Given the description of an element on the screen output the (x, y) to click on. 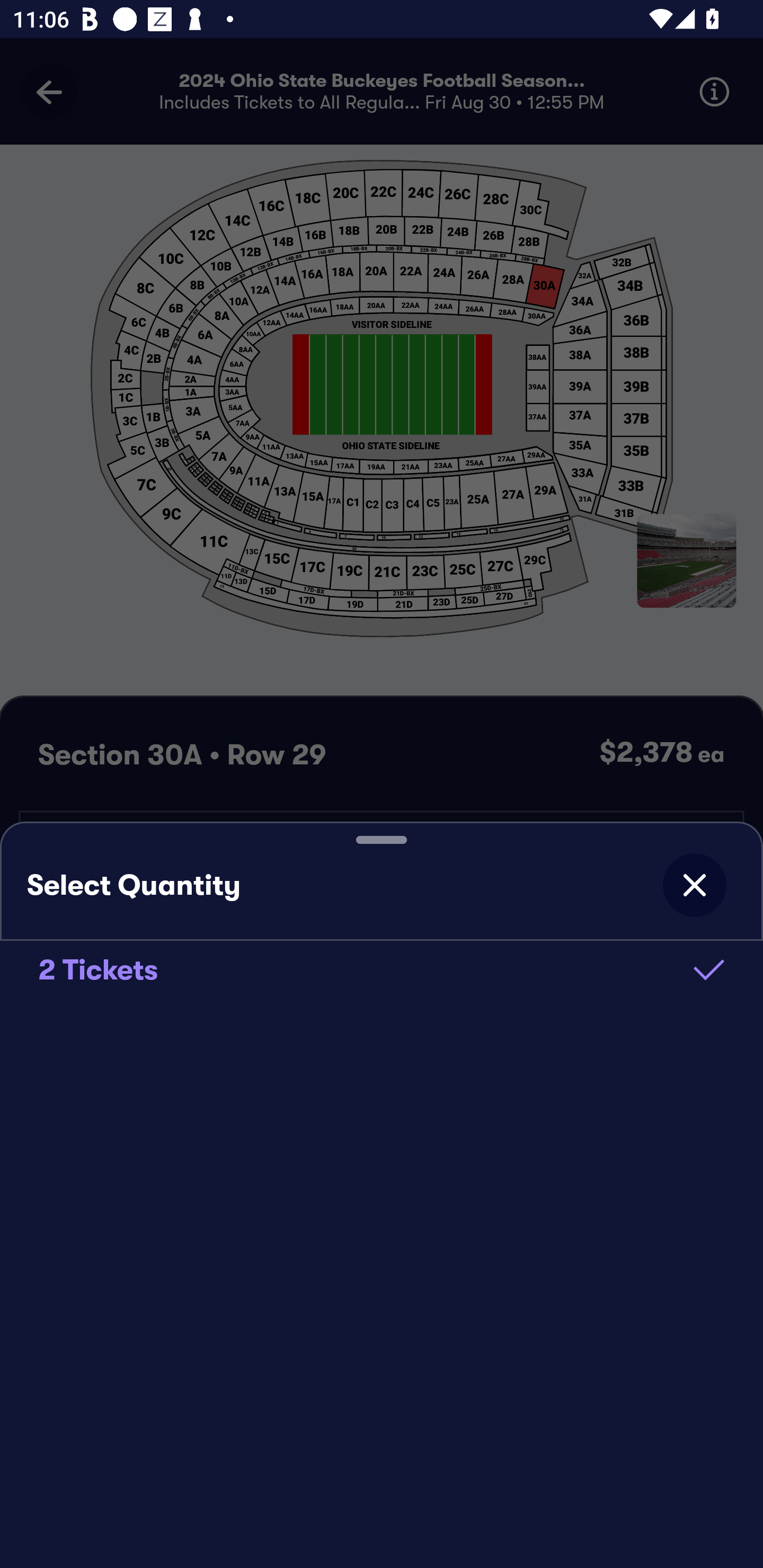
close (694, 884)
2 Tickets (381, 969)
